Given the description of an element on the screen output the (x, y) to click on. 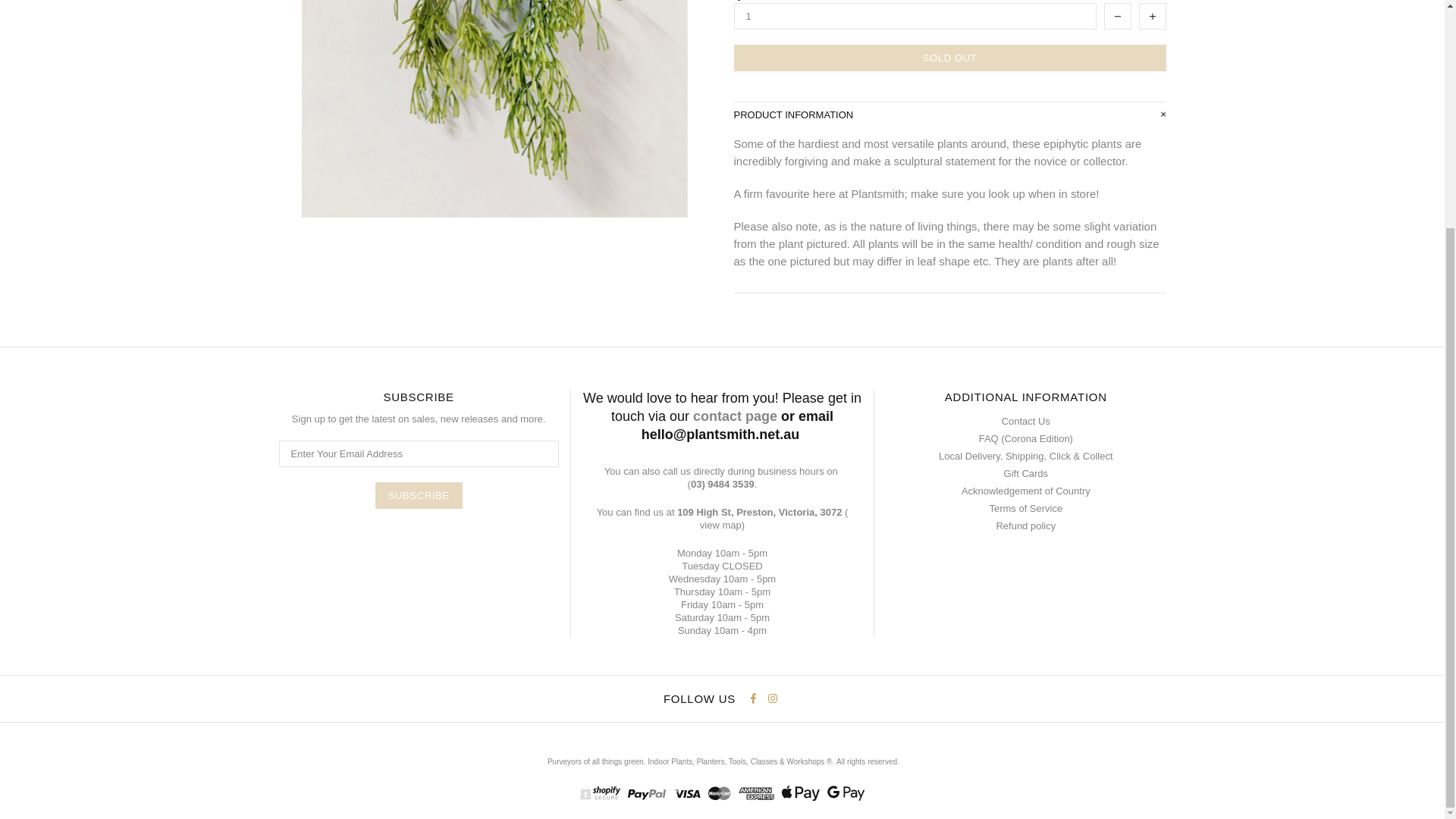
Contact Plantsmith (735, 416)
Call via Hangouts (720, 483)
Plantsmith Location Map (759, 512)
Subscribe (419, 495)
Plantsmith store policy. (865, 761)
1 (914, 16)
Plantsmith Directions (720, 524)
